Given the description of an element on the screen output the (x, y) to click on. 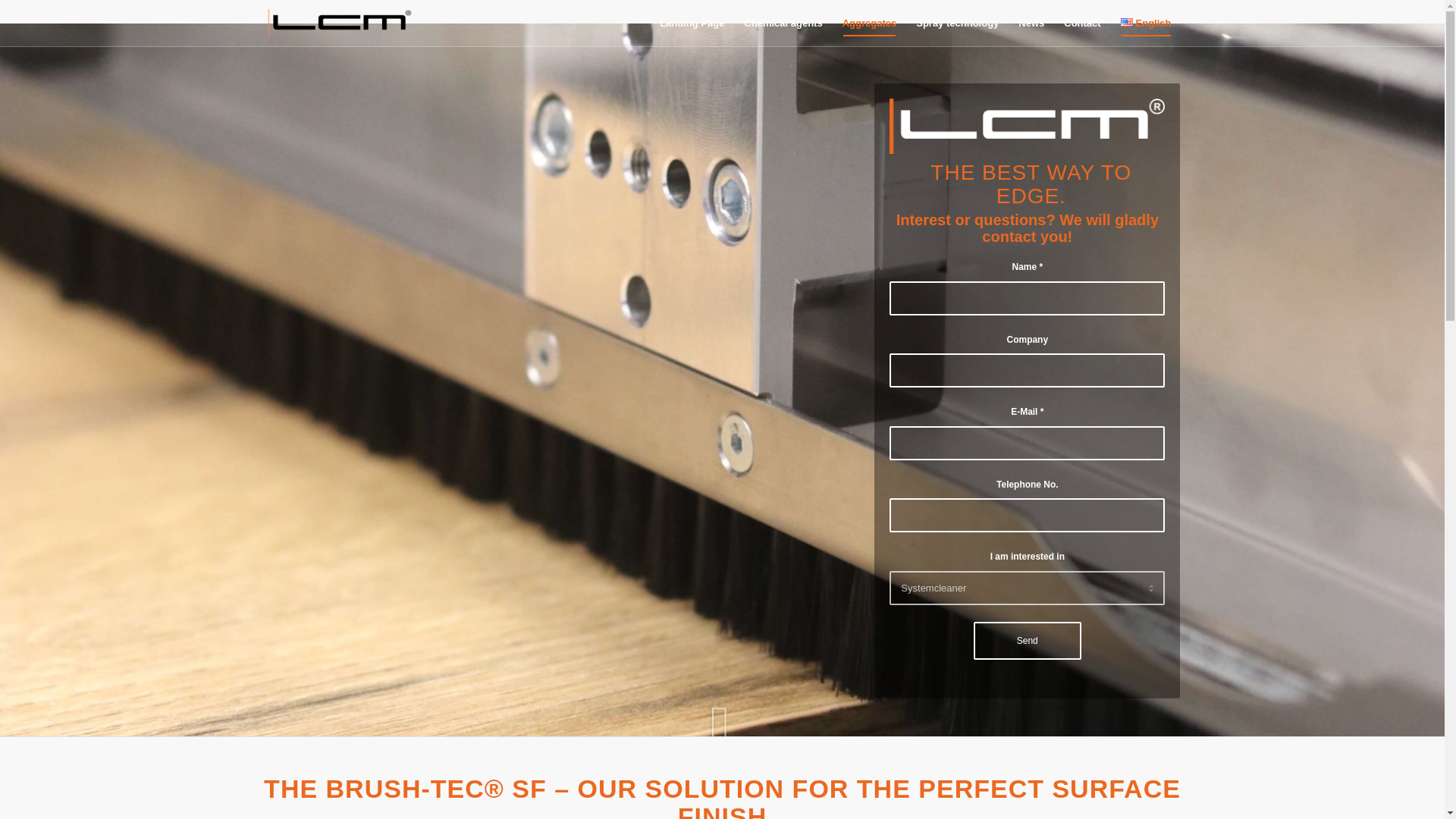
English (1145, 22)
Logo LcM 2021 (338, 22)
News (1031, 22)
Spray technology (957, 22)
Aggregates (869, 22)
Chemical agents (782, 22)
Send (1027, 640)
Send (1027, 640)
Contact (1081, 22)
Landing Page (691, 22)
